Given the description of an element on the screen output the (x, y) to click on. 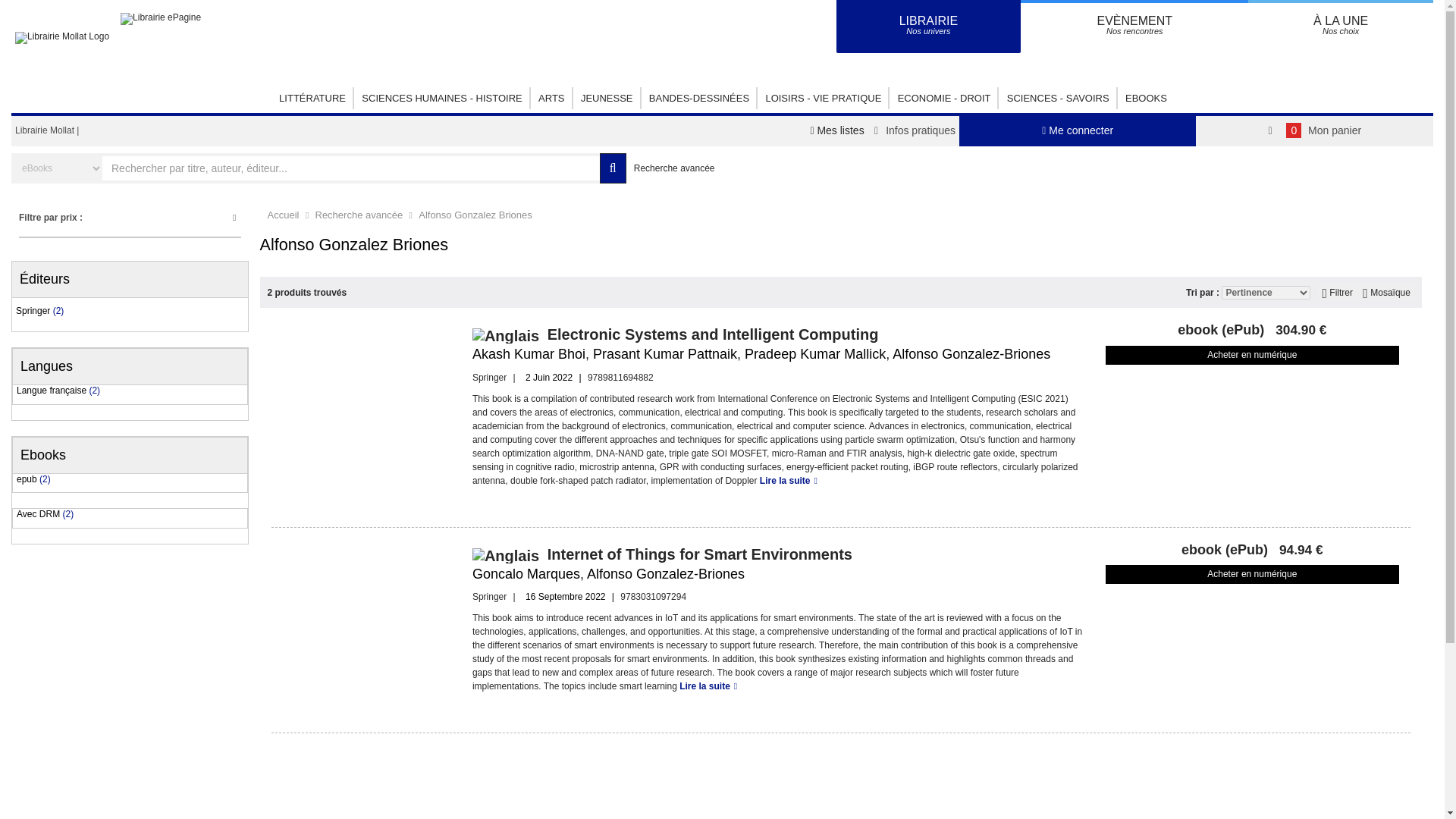
Rechercher (927, 26)
